Given the description of an element on the screen output the (x, y) to click on. 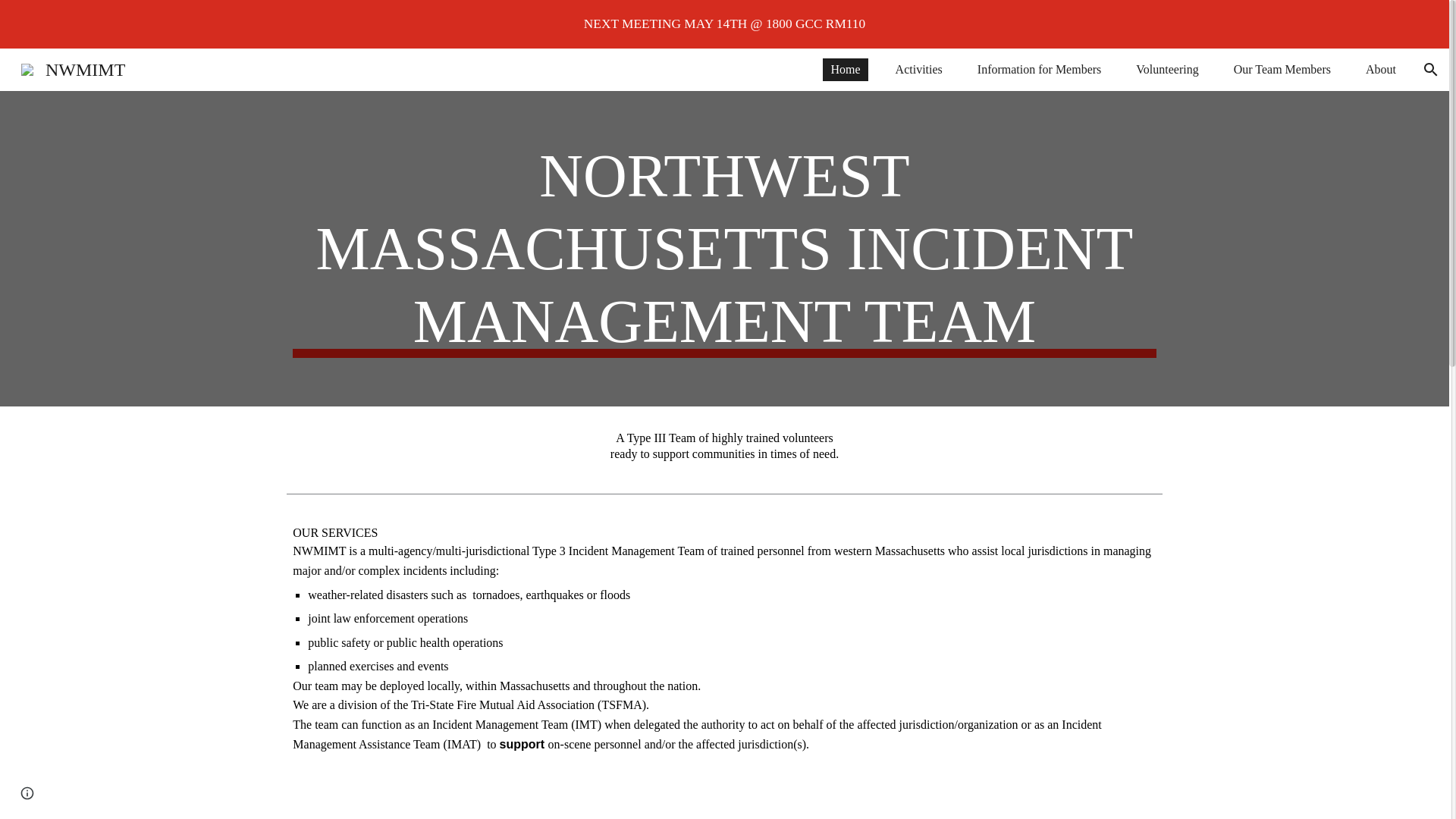
Home (844, 69)
NWMIMT (72, 67)
About (1380, 69)
Activities (919, 69)
Information for Members (1039, 69)
Our Team Members (1281, 69)
Volunteering (1166, 69)
